Given the description of an element on the screen output the (x, y) to click on. 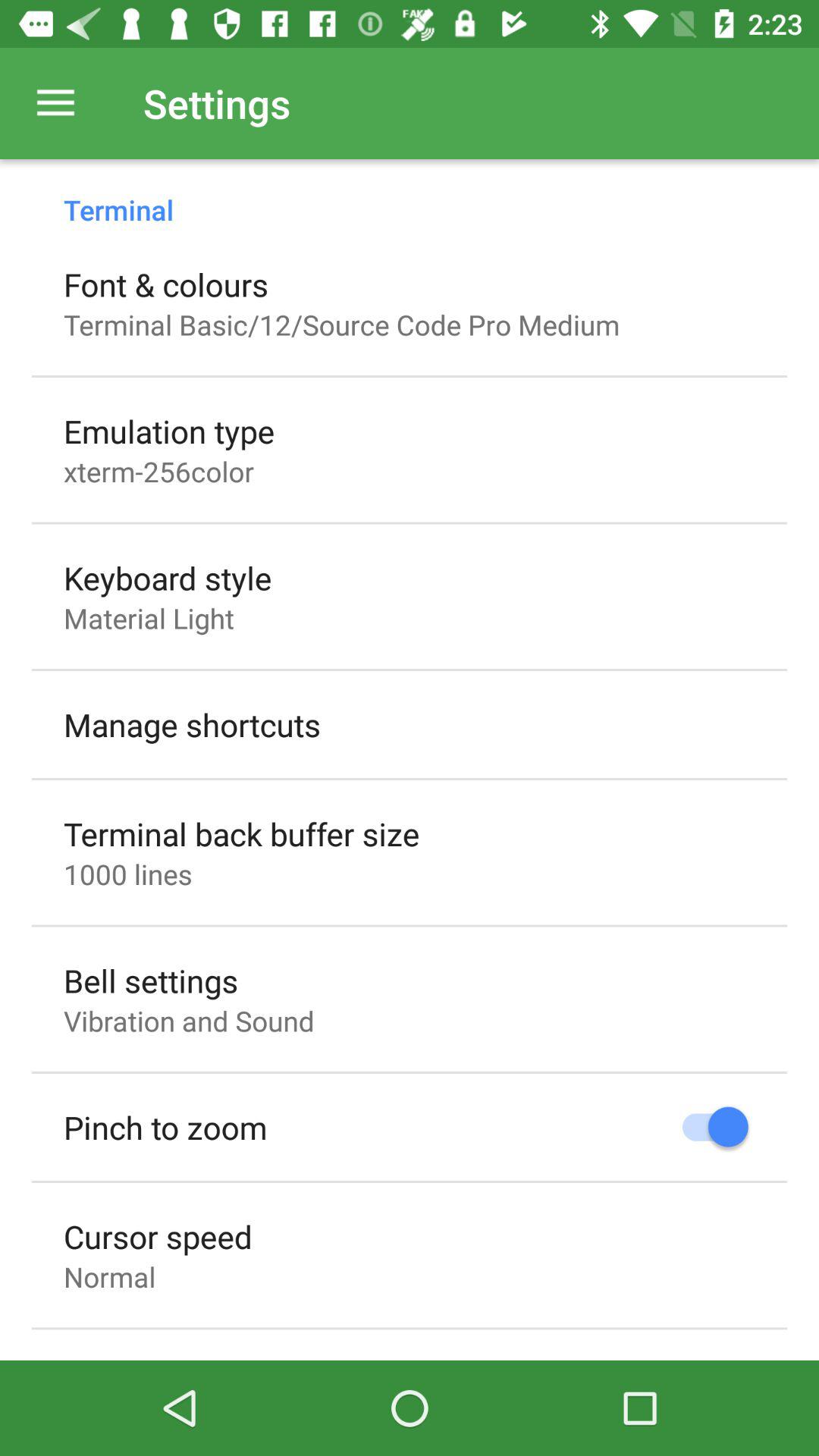
turn off icon above the cursor speed icon (165, 1126)
